Given the description of an element on the screen output the (x, y) to click on. 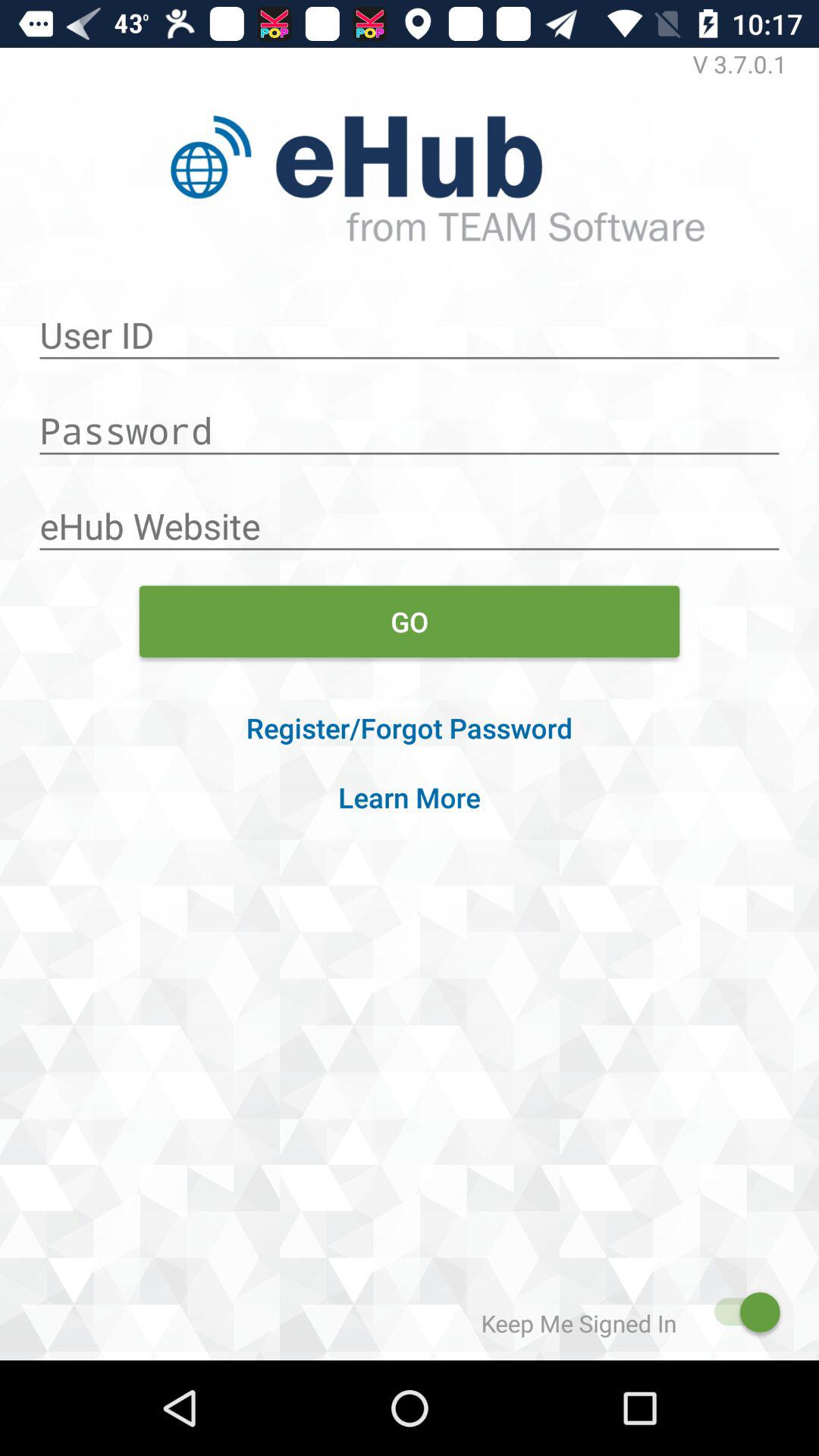
ehub website (409, 517)
